Given the description of an element on the screen output the (x, y) to click on. 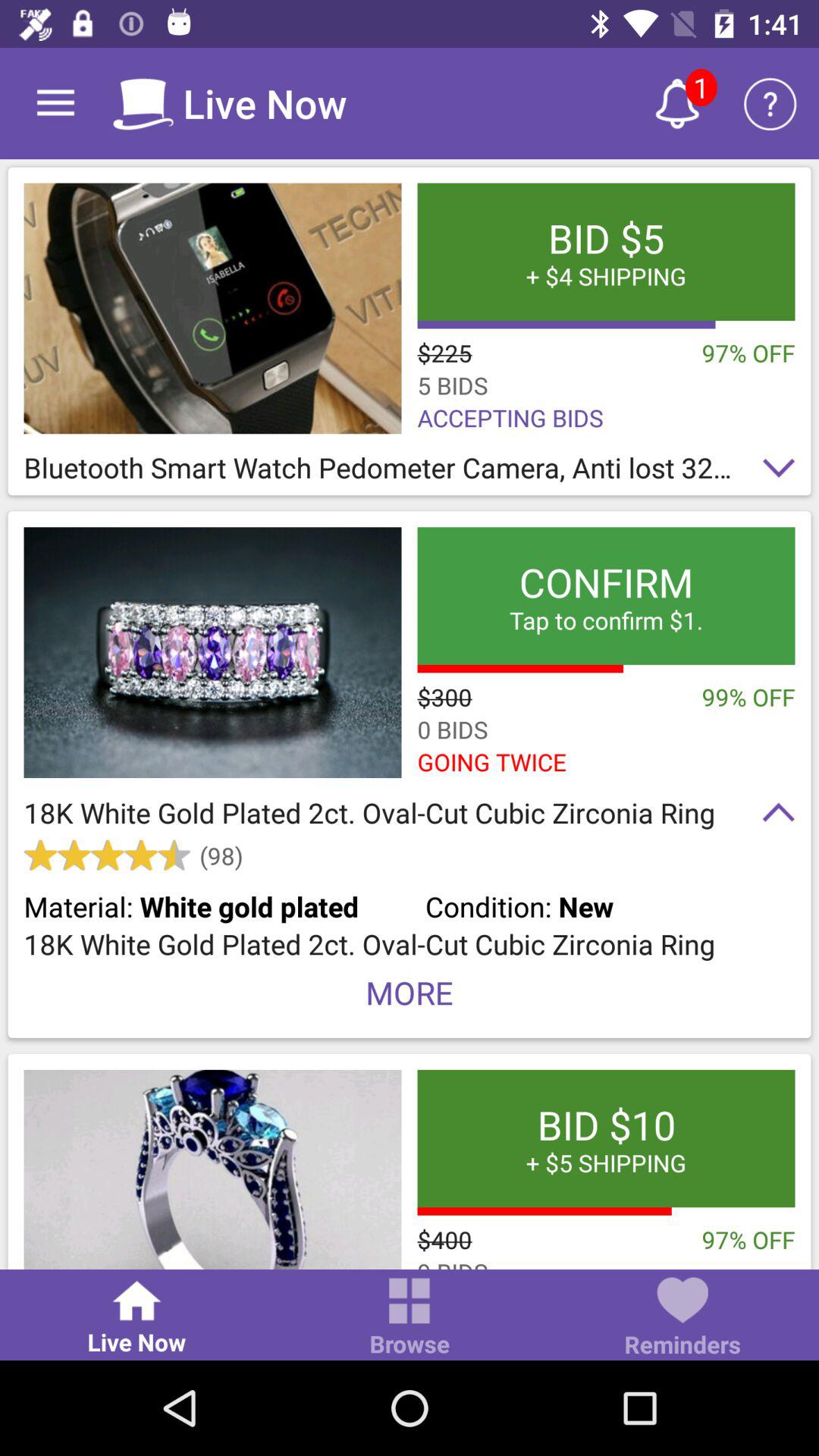
launch item above the bid 5 4 (677, 103)
